Given the description of an element on the screen output the (x, y) to click on. 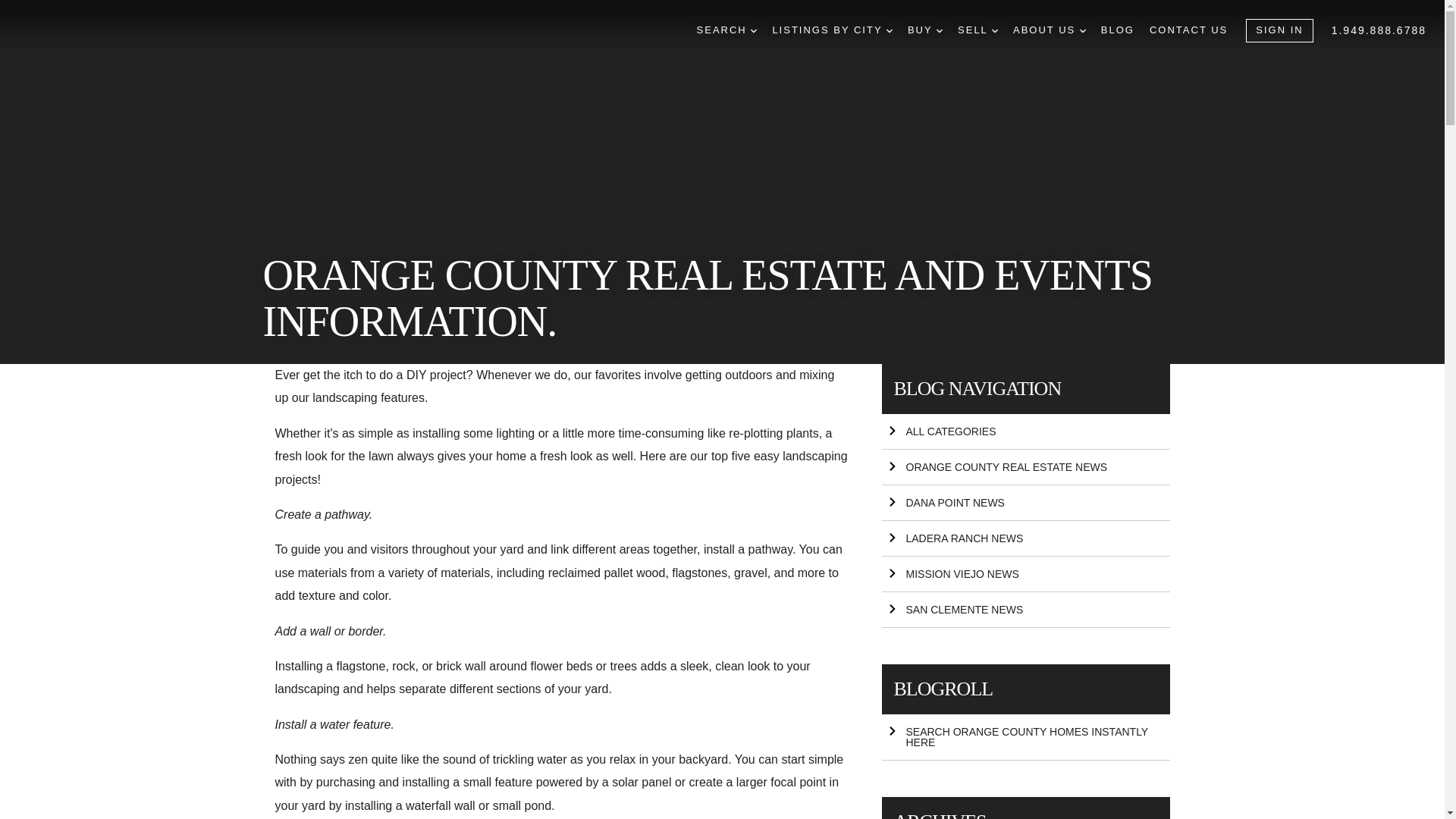
DROPDOWN ARROW (889, 30)
DROPDOWN ARROW (754, 30)
DROPDOWN ARROW (1083, 30)
SEARCH DROPDOWN ARROW (727, 30)
LISTINGS BY CITY DROPDOWN ARROW (831, 30)
DROPDOWN ARROW (939, 30)
DROPDOWN ARROW (994, 30)
